Given the description of an element on the screen output the (x, y) to click on. 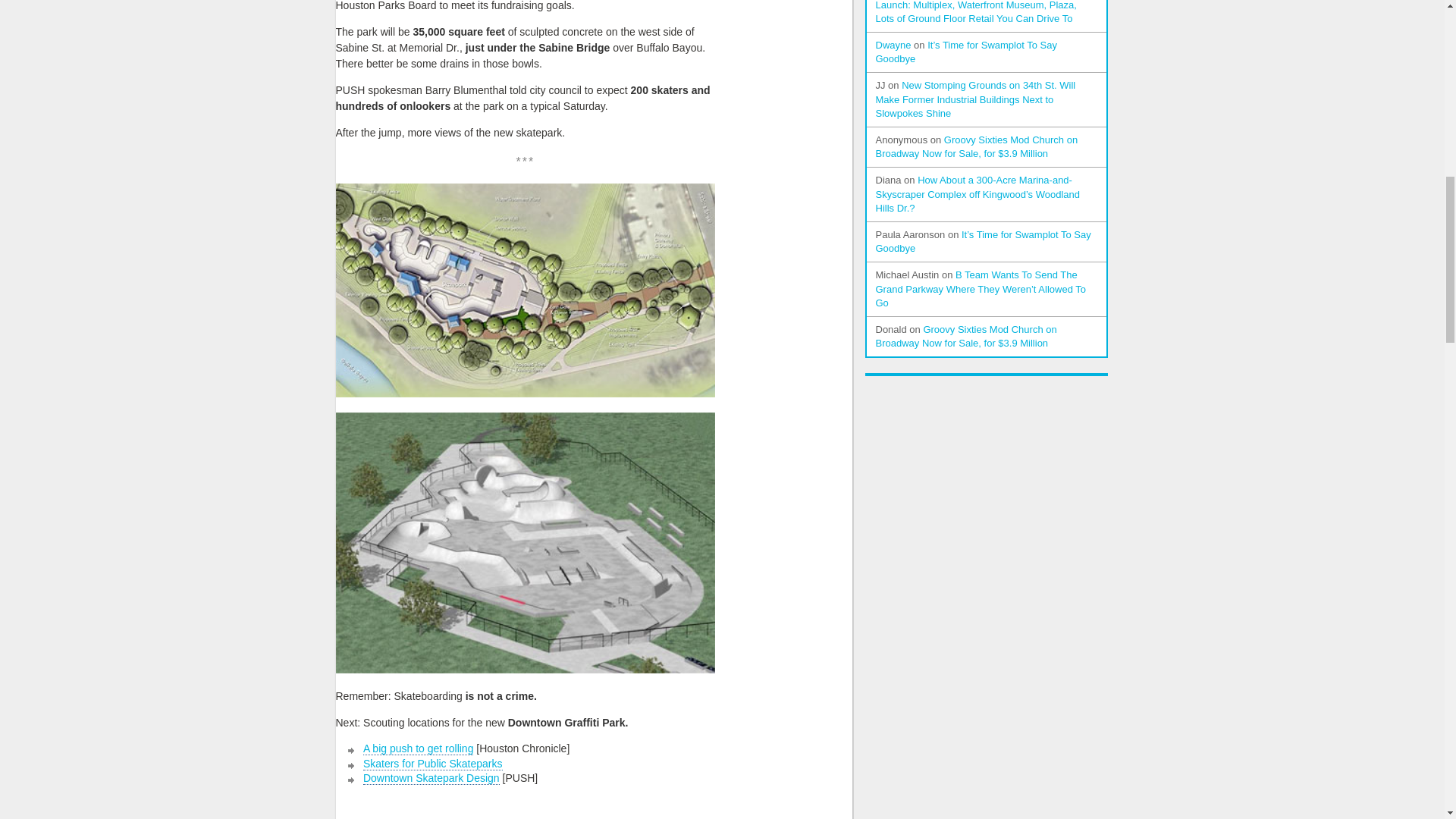
Skaters for Public Skateparks (432, 762)
Downtown Skatepark Design (430, 778)
A big push to get rolling (418, 748)
